Given the description of an element on the screen output the (x, y) to click on. 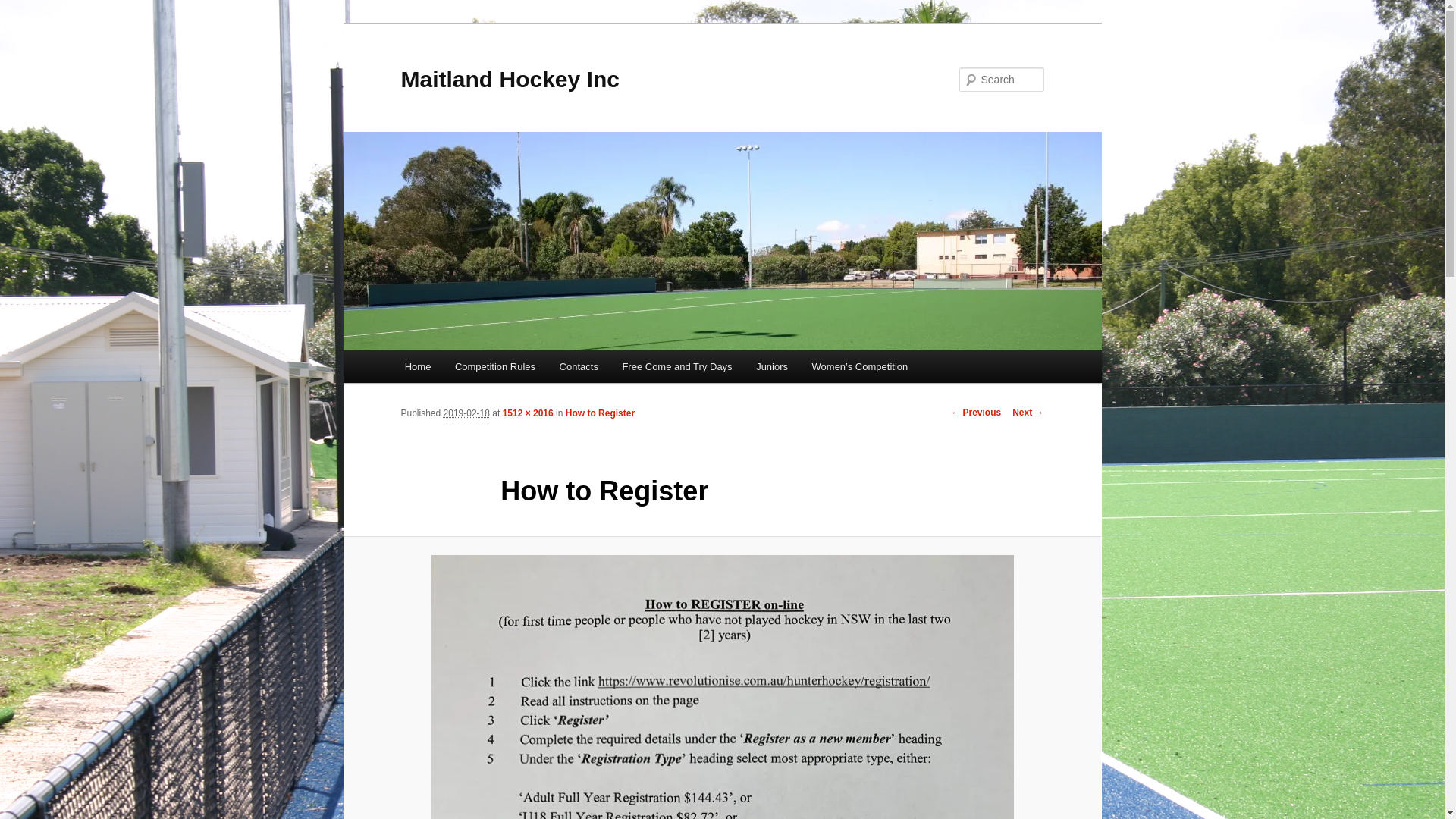
Skip to primary content Element type: text (22, 22)
Juniors Element type: text (771, 366)
How to Register Element type: text (599, 412)
Competition Rules Element type: text (494, 366)
Contacts Element type: text (578, 366)
Search Element type: text (24, 8)
Home Element type: text (417, 366)
Free Come and Try Days Element type: text (677, 366)
Maitland Hockey Inc Element type: text (509, 78)
